Given the description of an element on the screen output the (x, y) to click on. 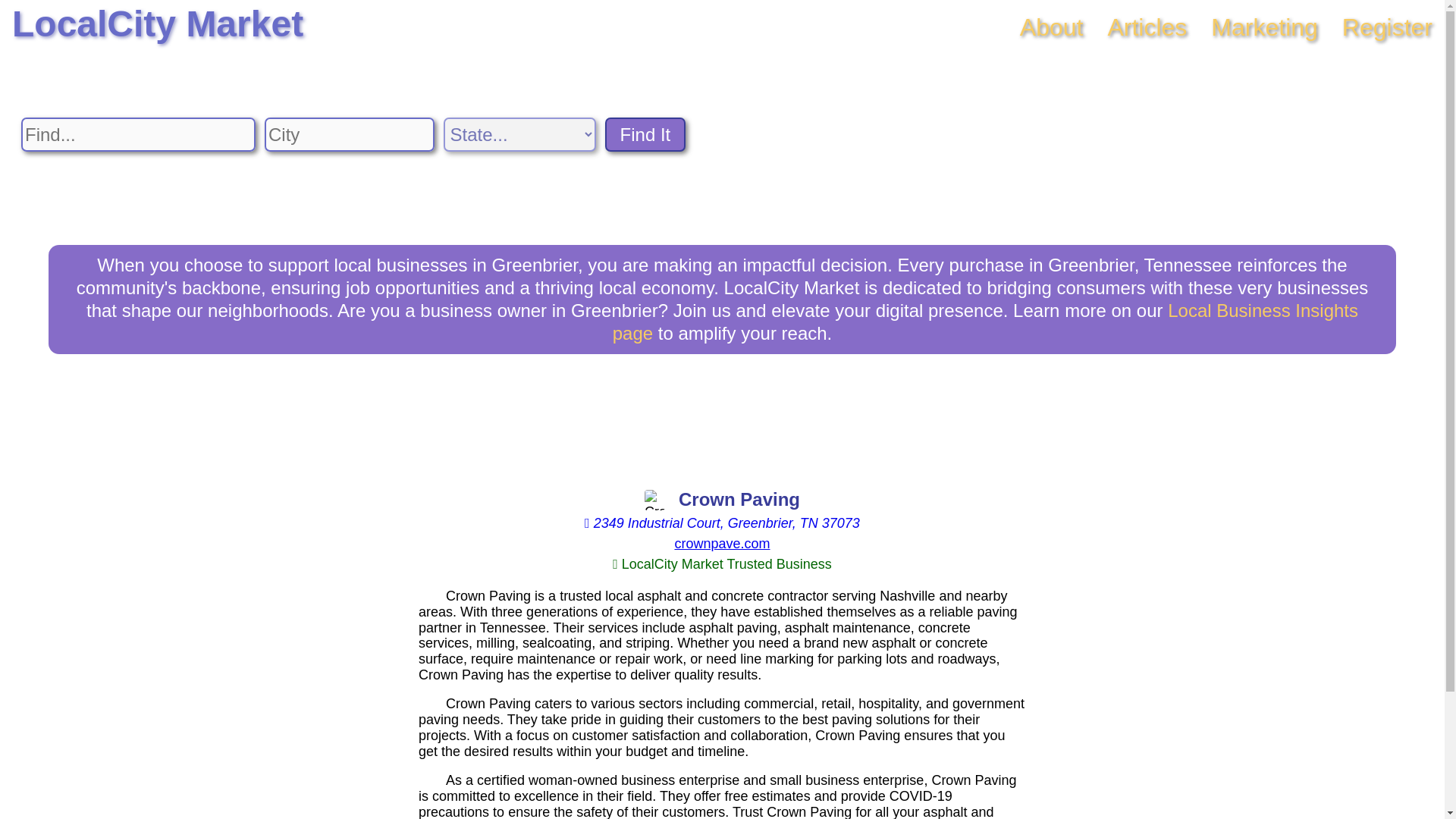
Find It (645, 134)
Register (1387, 27)
About (1051, 27)
Marketing (1264, 27)
Visit crownpave.com for asphalt company (722, 543)
Business Marketing Opportunites (1264, 27)
View on Google Maps (721, 523)
crownpave.com (722, 543)
Articles (1146, 27)
Local Business Insights page (985, 321)
About LocalCity Market (1051, 27)
LocalCity Market (156, 24)
Register My Business (1387, 27)
Local Business Insights (985, 321)
